Given the description of an element on the screen output the (x, y) to click on. 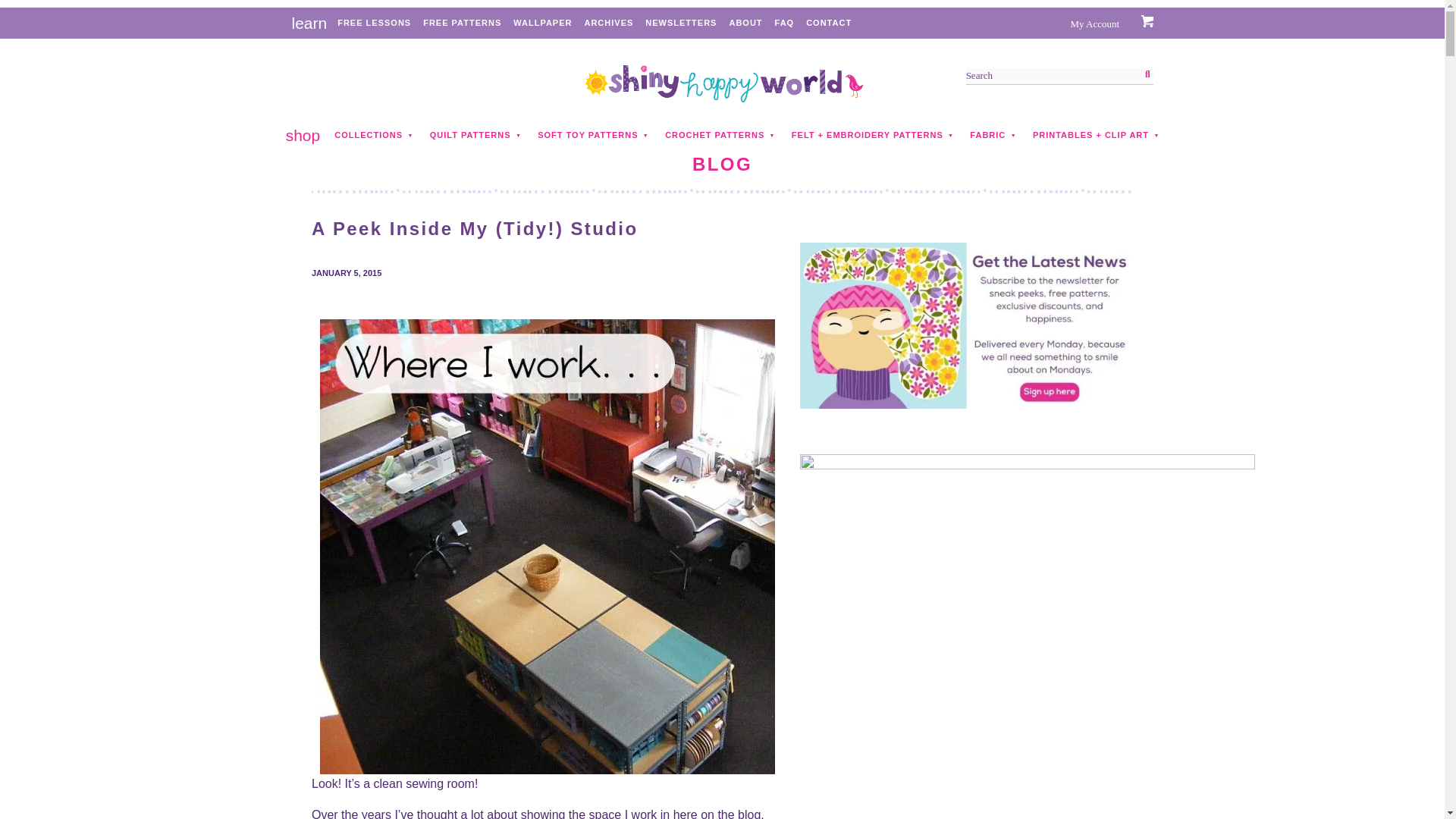
Quilt Patterns (470, 135)
Collections (368, 135)
Soft Toy Patterns (588, 135)
